Given the description of an element on the screen output the (x, y) to click on. 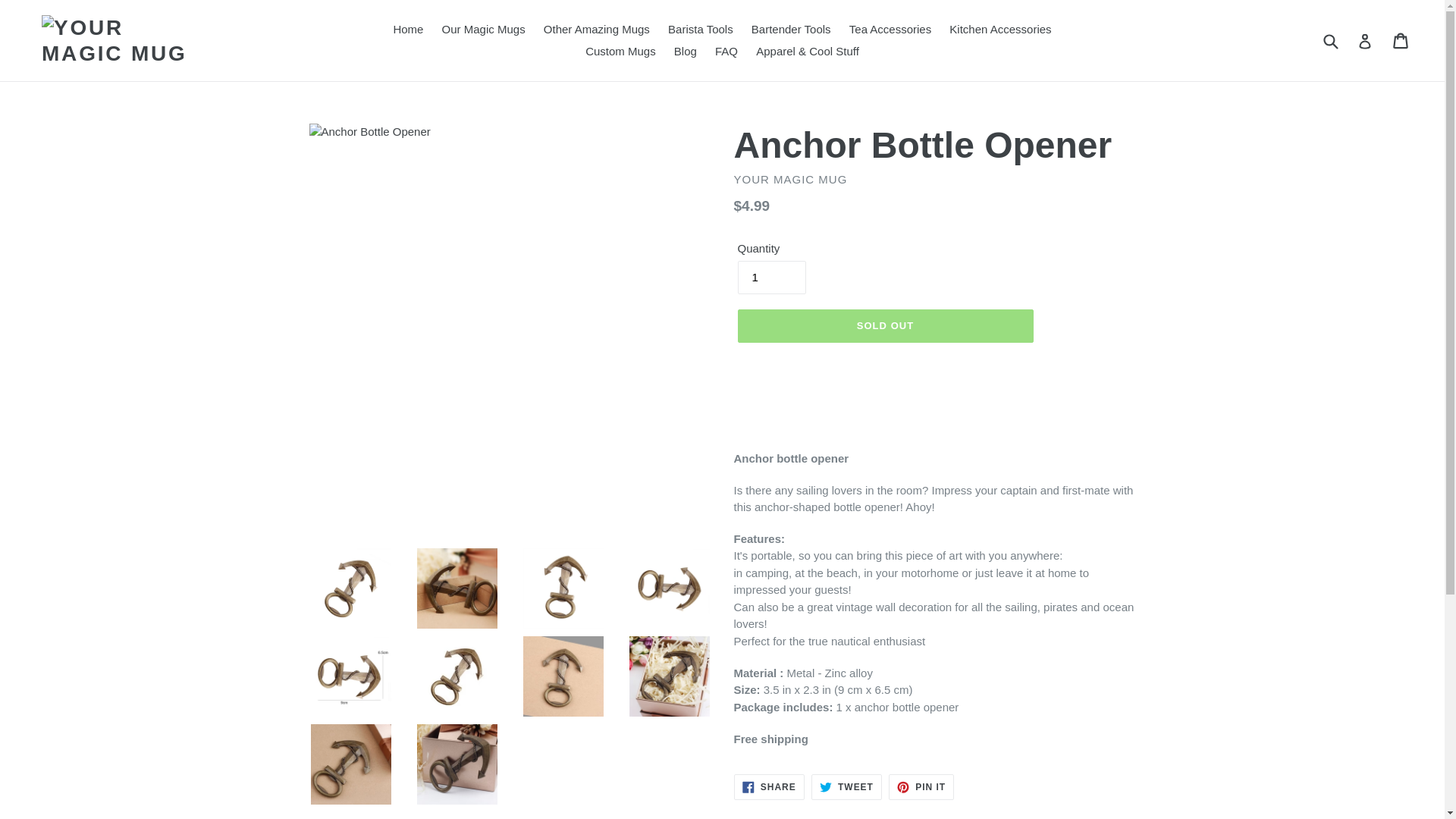
FAQ (726, 51)
Bartender Tools (791, 29)
Custom Mugs (620, 51)
Blog (685, 51)
Tea Accessories (890, 29)
Home (407, 29)
1 (770, 277)
Kitchen Accessories (1000, 29)
Submit (1329, 40)
Log in (1364, 40)
Barista Tools (701, 29)
Cart (1401, 39)
Tweet on Twitter (846, 786)
Share on Facebook (769, 786)
Our Magic Mugs (482, 29)
